Given the description of an element on the screen output the (x, y) to click on. 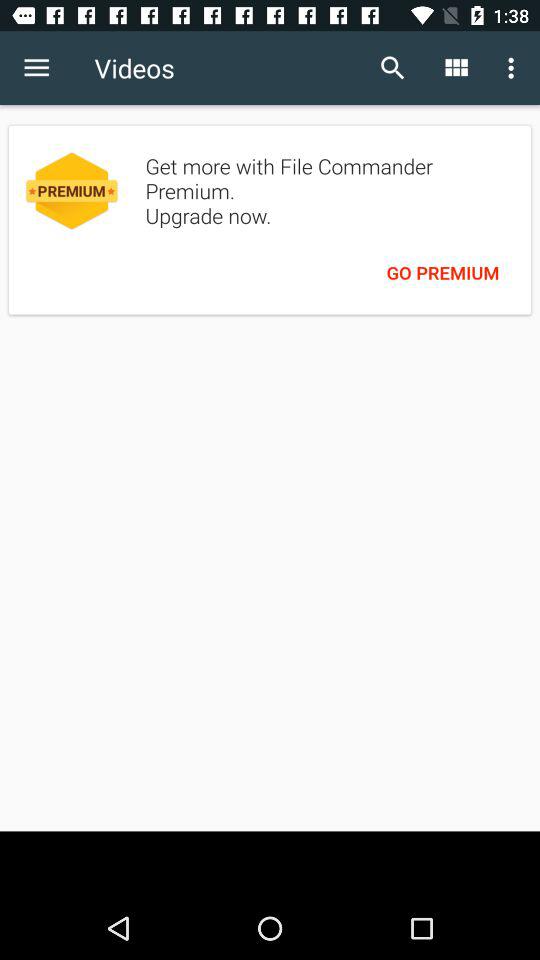
press the item to the right of videos (392, 67)
